Given the description of an element on the screen output the (x, y) to click on. 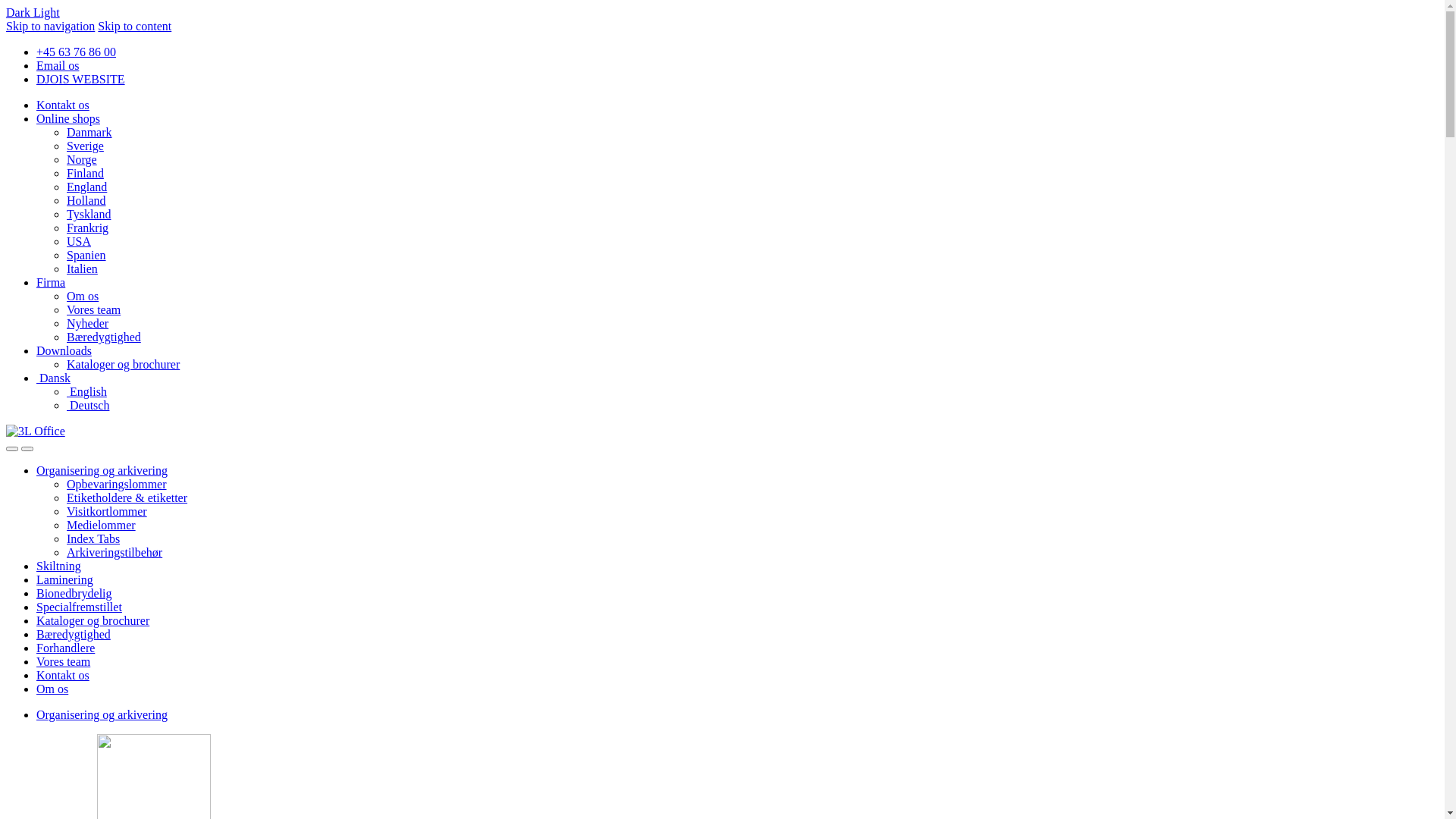
Tyskland Element type: text (88, 213)
Spanien Element type: text (86, 254)
Laminering Element type: text (64, 579)
Om os Element type: text (52, 688)
Frankrig Element type: text (87, 227)
Specialfremstillet Element type: text (79, 606)
Bionedbrydelig Element type: text (74, 592)
Sverige Element type: text (84, 145)
Medielommer Element type: text (100, 524)
Firma Element type: text (50, 282)
Index Tabs Element type: text (92, 538)
England Element type: text (86, 186)
Vores team Element type: text (93, 309)
USA Element type: text (78, 241)
Vores team Element type: text (63, 661)
 English Element type: text (86, 391)
Email os Element type: text (57, 65)
Organisering og arkivering Element type: text (101, 714)
Skiltning Element type: text (58, 565)
Kontakt os Element type: text (62, 104)
Om os Element type: text (82, 295)
Organisering og arkivering Element type: text (101, 470)
+45 63 76 86 00 Element type: text (76, 51)
Etiketholdere & etiketter Element type: text (126, 497)
Skip to navigation Element type: text (50, 25)
Light Element type: text (46, 12)
Forhandlere Element type: text (65, 647)
Opbevaringslommer Element type: text (116, 483)
Dark Element type: text (19, 12)
Kataloger og brochurer Element type: text (92, 620)
Kontakt os Element type: text (62, 674)
Danmark Element type: text (89, 131)
Online shops Element type: text (68, 118)
Downloads Element type: text (63, 350)
Holland Element type: text (86, 200)
Skip to content Element type: text (134, 25)
Italien Element type: text (81, 268)
Nyheder Element type: text (87, 322)
Kataloger og brochurer Element type: text (122, 363)
Finland Element type: text (84, 172)
 Deutsch Element type: text (87, 404)
Visitkortlommer Element type: text (106, 511)
 Dansk Element type: text (53, 377)
Norge Element type: text (81, 159)
DJOIS WEBSITE Element type: text (80, 78)
